Given the description of an element on the screen output the (x, y) to click on. 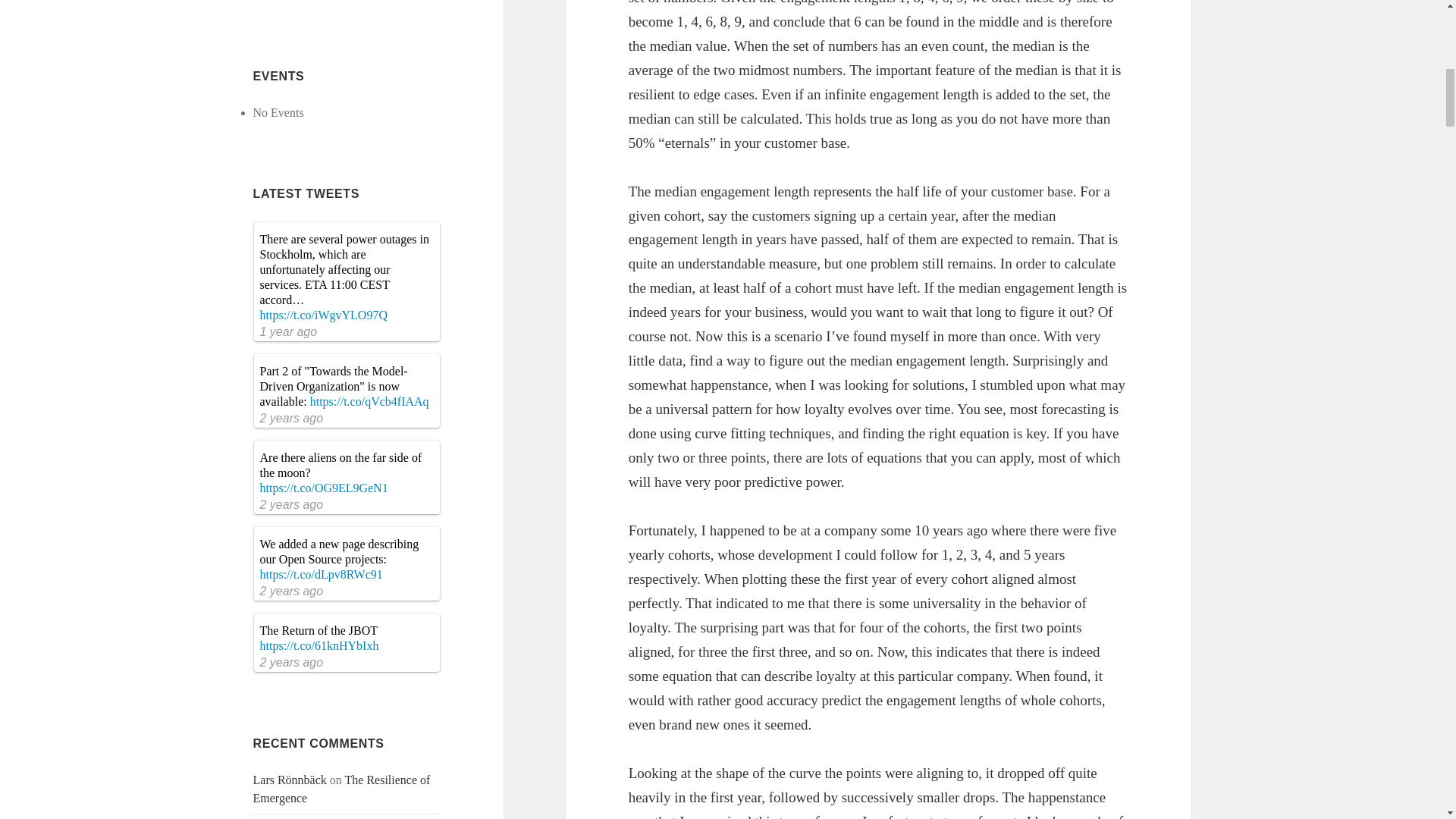
2 years ago (291, 662)
2 years ago (291, 418)
2 years ago (291, 590)
1 year ago (288, 331)
2 years ago (291, 504)
The Resilience of Emergence (341, 788)
